Given the description of an element on the screen output the (x, y) to click on. 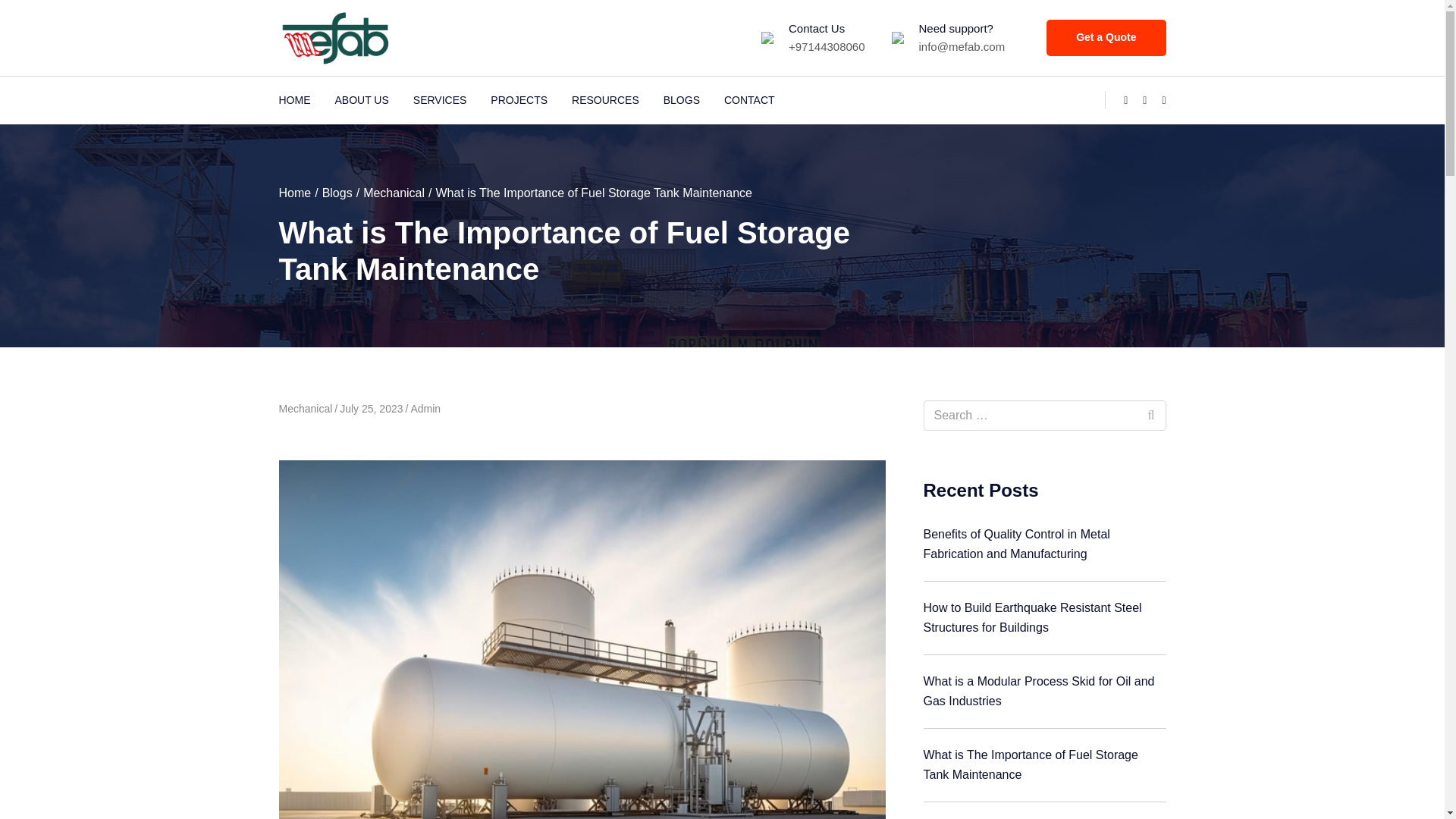
Blogs (336, 192)
Mechanical (306, 408)
Get a Quote (1106, 37)
BLOGS (680, 100)
PROJECTS (519, 100)
RESOURCES (604, 100)
SERVICES (440, 100)
Mechanical (393, 192)
July 25, 2023 (371, 408)
